Given the description of an element on the screen output the (x, y) to click on. 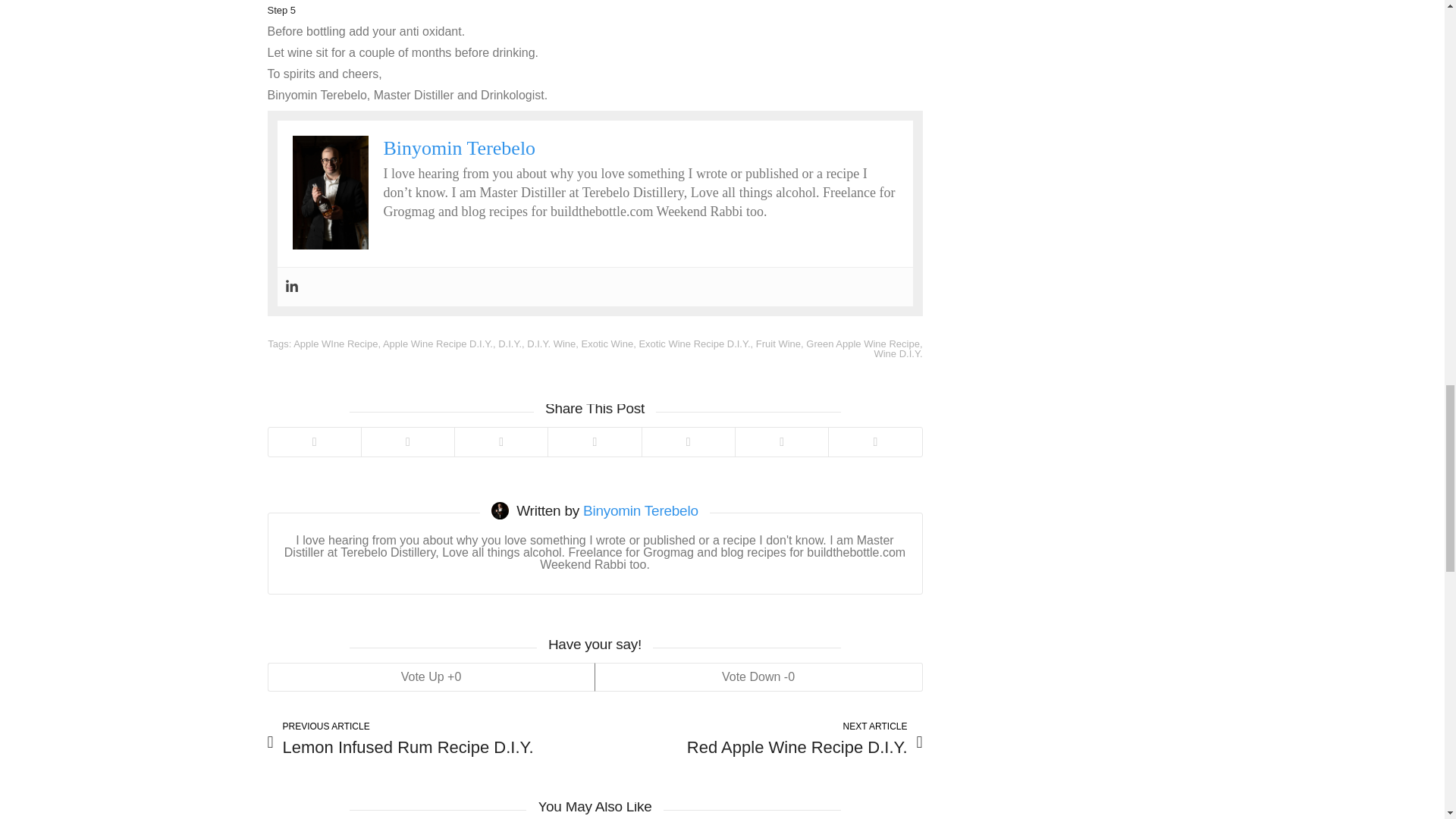
Wine D.I.Y. (897, 353)
Exotic Wine (606, 343)
Tumblr (781, 441)
D.I.Y. (509, 343)
Red Apple Wine Recipe D.I.Y. (761, 738)
Lemon Infused Rum Recipe D.I.Y. (427, 738)
Twitter (314, 441)
Fruit Wine (777, 343)
Binyomin Terebelo (459, 147)
D.I.Y. Wine (551, 343)
LinkedIn (593, 441)
Apple WIne Recipe (335, 343)
Exotic Wine Recipe D.I.Y. (694, 343)
Email (874, 441)
Linkedin (291, 286)
